Given the description of an element on the screen output the (x, y) to click on. 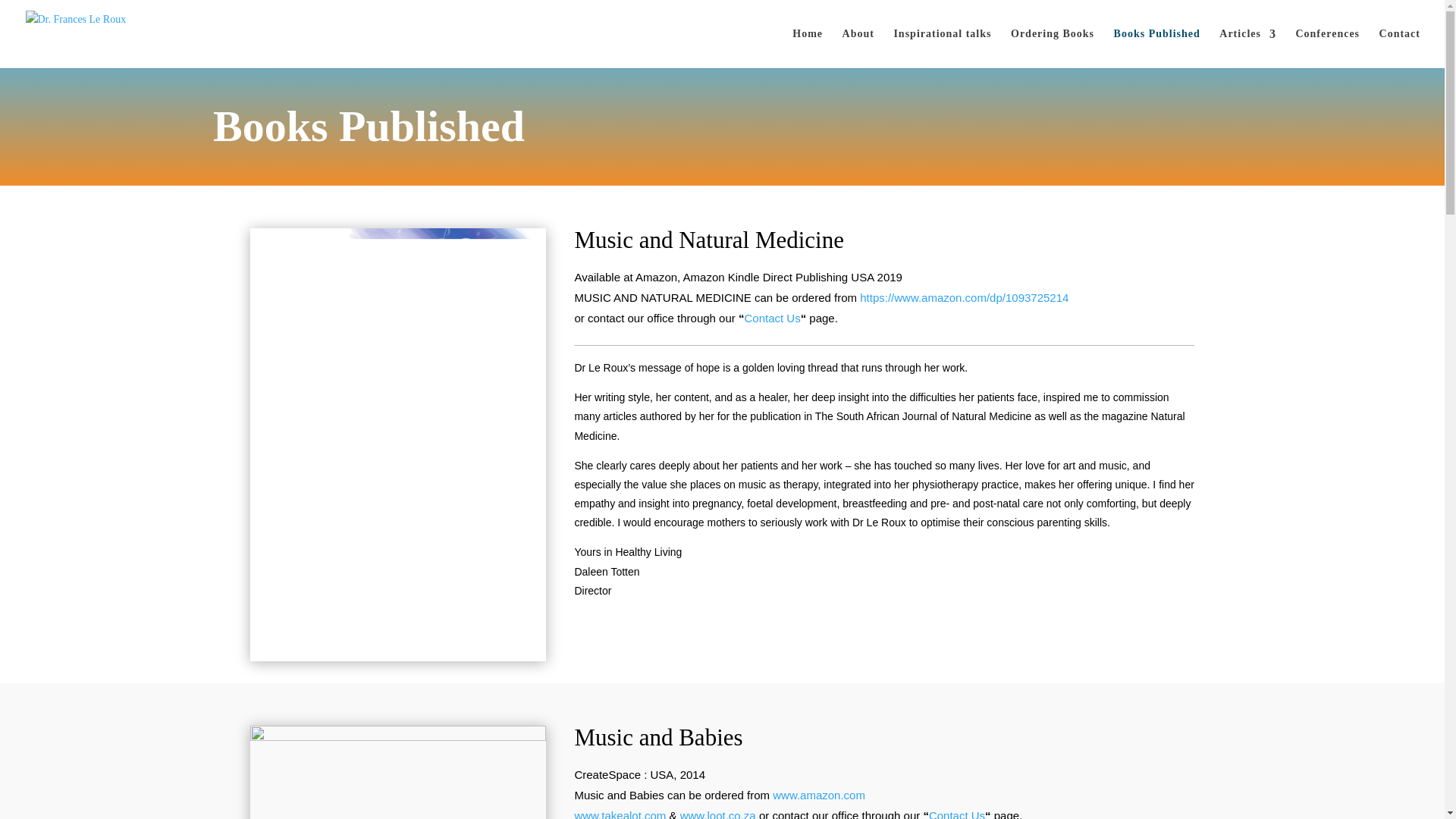
www.loot.co.za (717, 814)
Ordering Books (1052, 47)
Music and Natural Medicine Front SMALL 2 (398, 657)
About (859, 47)
Articles (1248, 47)
Contact Us (771, 318)
Conferences (1327, 47)
Music and Babies 1 (398, 736)
Inspirational talks (942, 47)
Contact Us (956, 814)
Home (807, 47)
www.takealot.com (619, 814)
Books Published (1156, 47)
www.amazon.com (818, 794)
Contact (1399, 47)
